Given the description of an element on the screen output the (x, y) to click on. 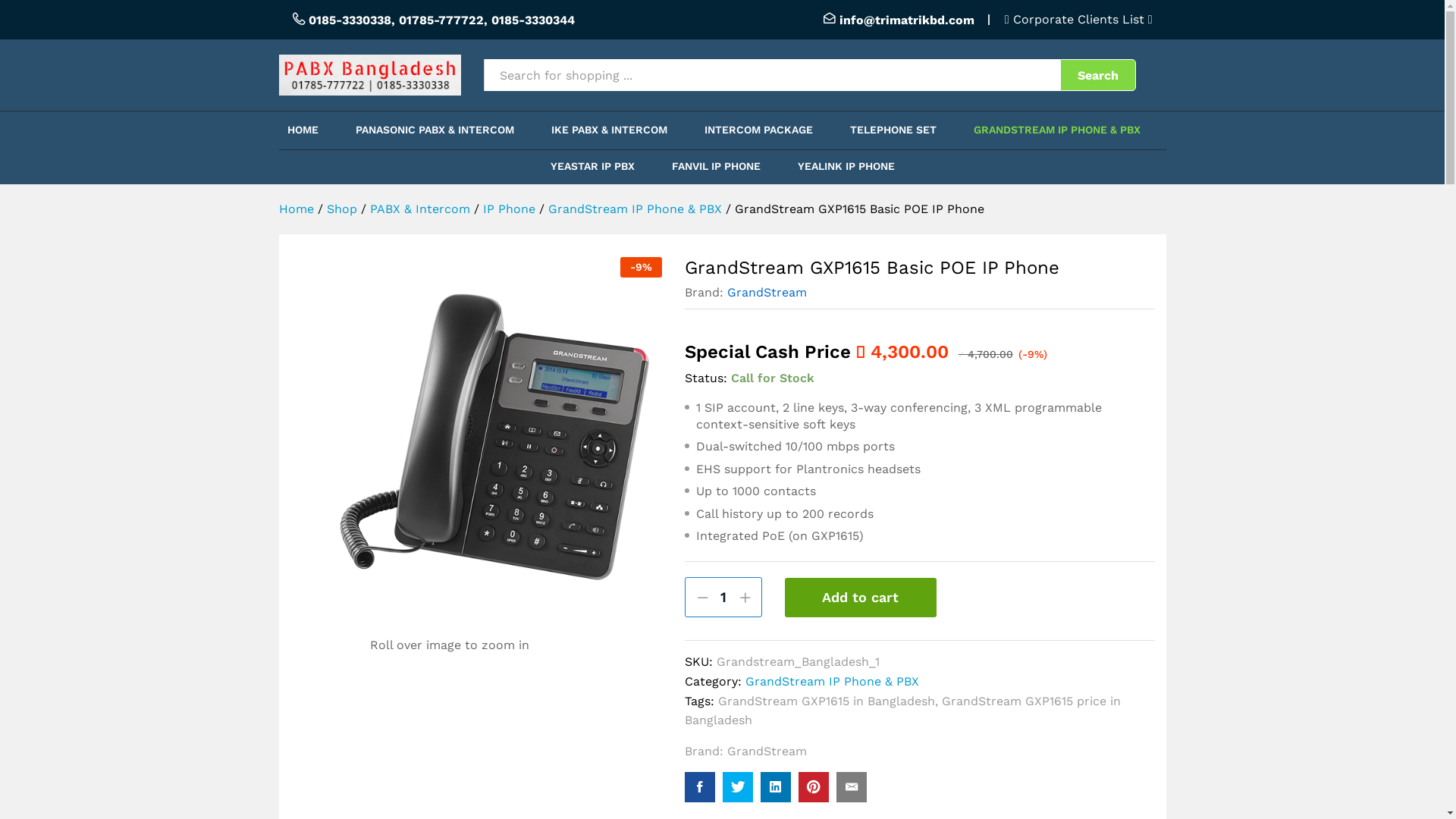
GrandStream+GXP1615+Basic+POE+IP+Phone Element type: hover (737, 786)
GrandStream IP Phone & PBX Element type: text (634, 208)
Add to cart Element type: text (860, 597)
TELEPHONE SET Element type: text (893, 129)
HOME Element type: text (302, 129)
0185-3330338 Element type: text (348, 19)
PANASONIC PABX & INTERCOM Element type: text (434, 129)
GRANDSTREAM IP PHONE & PBX Element type: text (1056, 129)
GrandStream Element type: text (766, 750)
IKE PABX & INTERCOM Element type: text (609, 129)
Search Element type: text (1097, 75)
01785-777722 Element type: text (440, 19)
YEASTAR IP PBX Element type: text (592, 165)
GrandStream GXP1615 in Bangladesh Element type: text (826, 700)
GrandStream GXP1615 Basic POE IP Phone Element type: hover (851, 786)
GrandStream IP Phone & PBX Element type: text (832, 681)
YEALINK IP PHONE Element type: text (845, 165)
0185-3330344 Element type: text (532, 19)
Shop Element type: text (341, 208)
INTERCOM PACKAGE Element type: text (758, 129)
GrandStream+GXP1615+Basic+POE+IP+Phone Element type: hover (813, 786)
GrandStream Element type: text (766, 292)
GrandStream GXP1615 price in Bangladesh Element type: text (902, 710)
PABX & Intercom Element type: text (420, 208)
info@trimatrikbd.com Element type: text (906, 19)
Home Element type: text (296, 208)
FANVIL IP PHONE Element type: text (715, 165)
Qty Element type: hover (723, 596)
IP Phone Element type: text (508, 208)
GrandStream GXP1615 Basic POE IP Phone Element type: hover (699, 786)
GrandStream+GXP1615+Basic+POE+IP+Phone Element type: hover (775, 786)
